Given the description of an element on the screen output the (x, y) to click on. 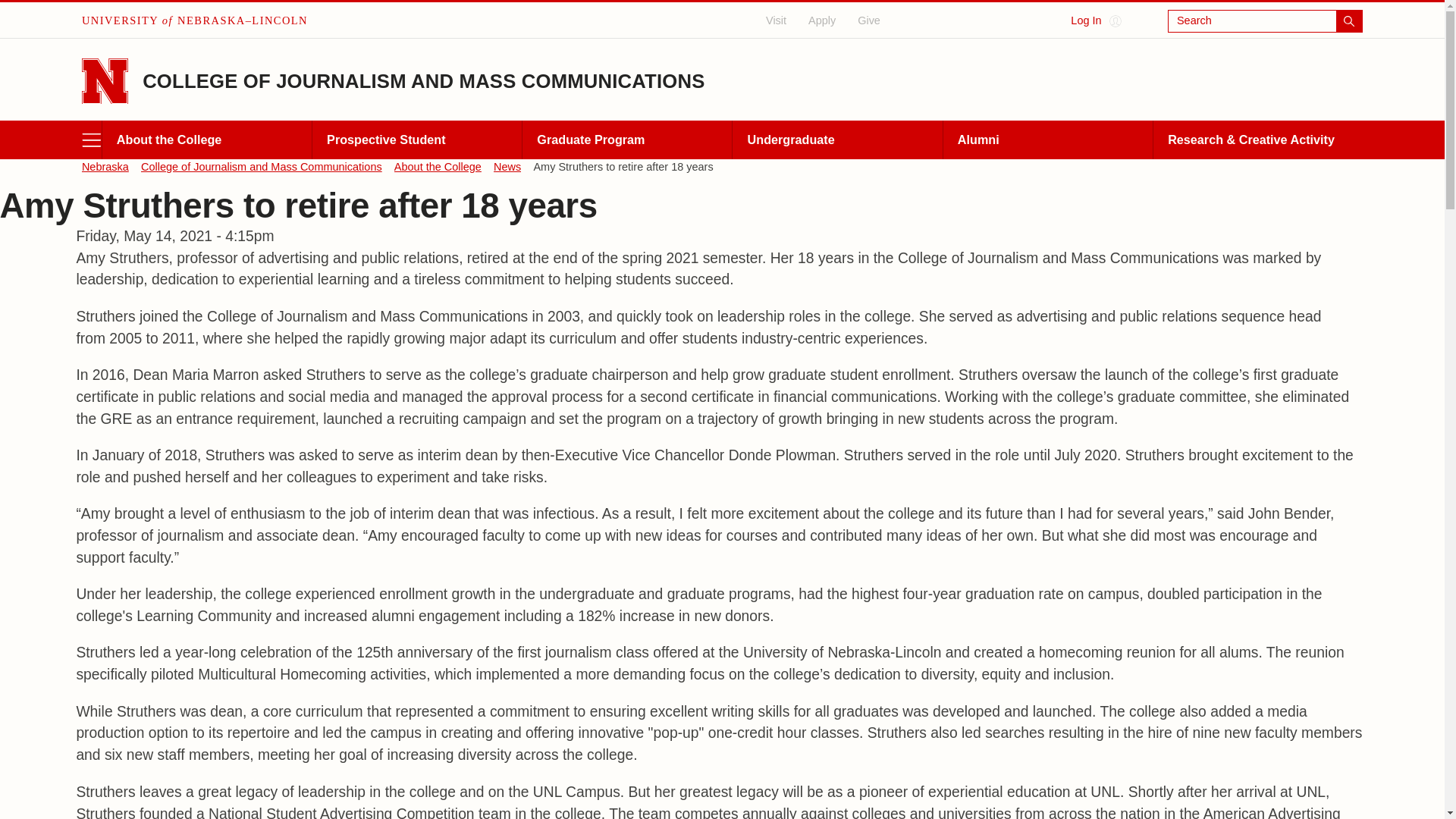
Prospective Student (416, 139)
Search (1264, 21)
Give (869, 20)
Log In (1095, 21)
About the College (206, 139)
Skip to main content (13, 10)
COLLEGE OF JOURNALISM AND MASS COMMUNICATIONS (423, 79)
Apply (822, 20)
Visit (776, 20)
